Given the description of an element on the screen output the (x, y) to click on. 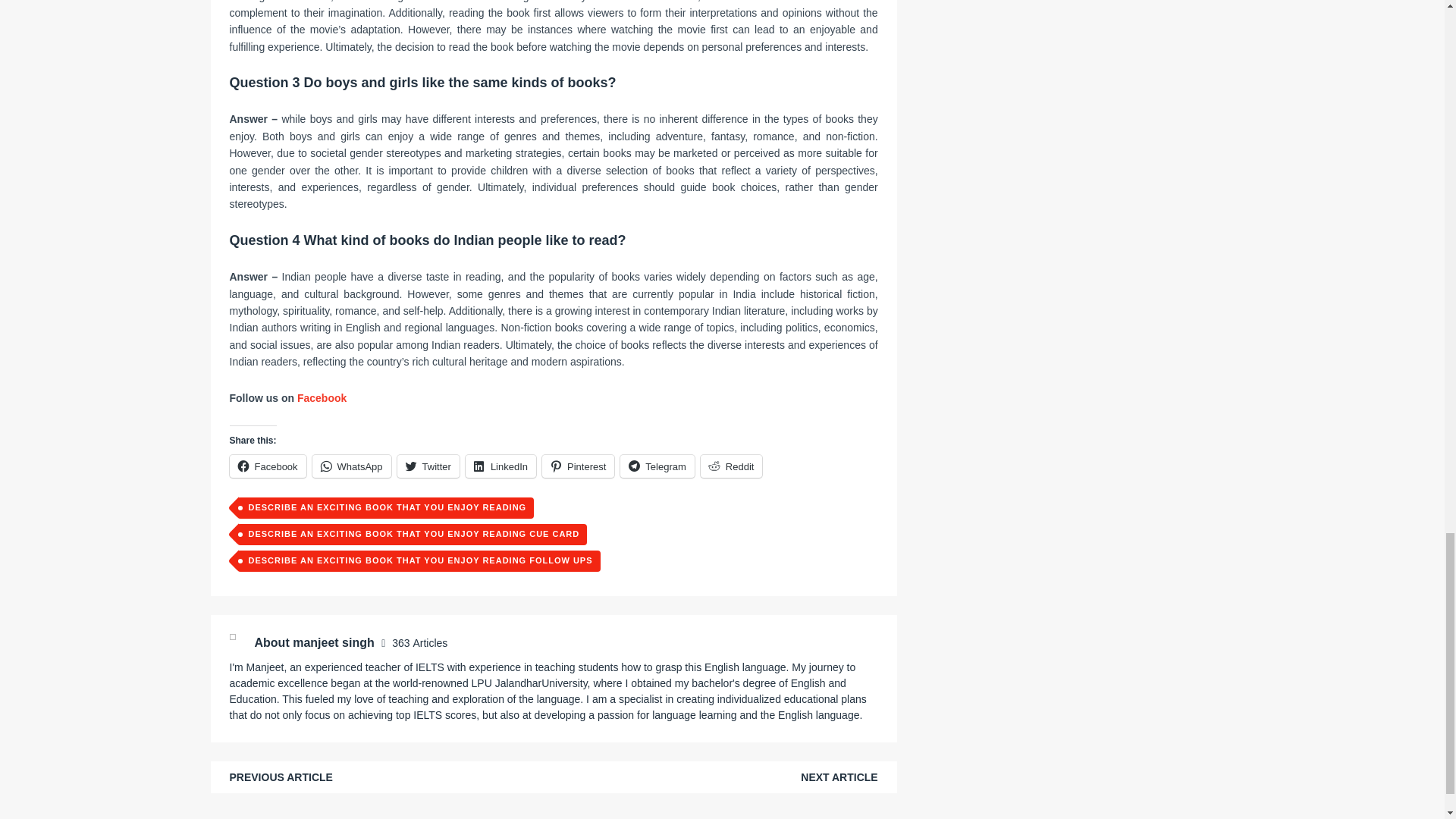
NEXT ARTICLE (838, 776)
Facebook  (323, 398)
WhatsApp (352, 466)
Click to share on Reddit (731, 466)
Click to share on LinkedIn (500, 466)
PREVIOUS ARTICLE (279, 776)
Click to share on WhatsApp (352, 466)
Click to share on Pinterest (577, 466)
DESCRIBE AN EXCITING BOOK THAT YOU ENJOY READING CUE CARD (410, 534)
Reddit (731, 466)
